Given the description of an element on the screen output the (x, y) to click on. 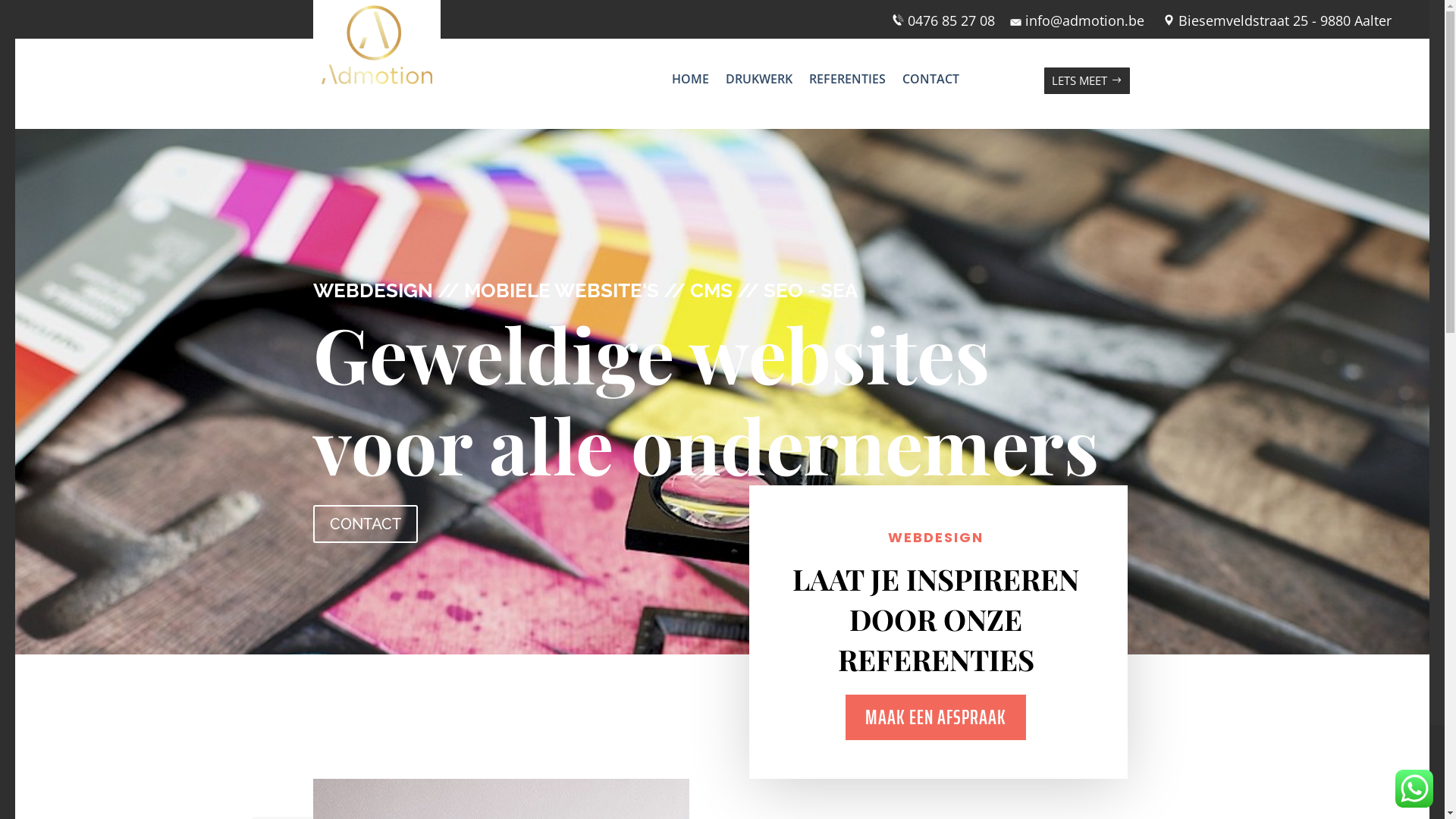
CONTACT Element type: text (930, 82)
0476 85 27 08 Element type: text (950, 20)
Admotion Element type: hover (376, 44)
HOME Element type: text (690, 82)
MAAK EEN AFSPRAAK Element type: text (935, 717)
     info@admotion.be     Element type: text (1076, 20)
REFERENTIES Element type: text (847, 82)
DRUKWERK Element type: text (758, 82)
LETS MEET Element type: text (1087, 80)
CONTACT Element type: text (364, 523)
